Given the description of an element on the screen output the (x, y) to click on. 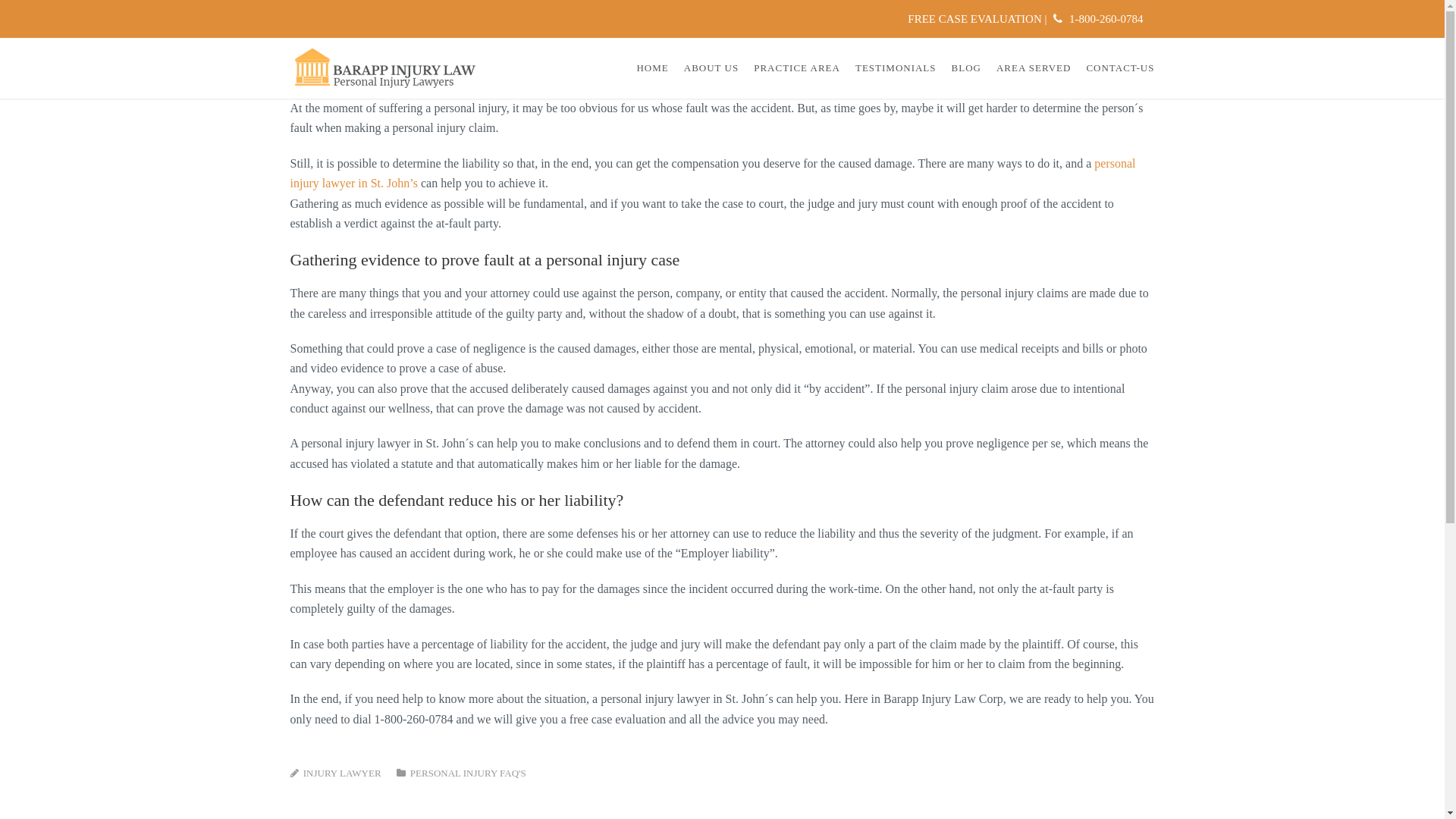
ABOUT US Element type: text (711, 67)
INJURY LAWYER Element type: text (342, 772)
PERSONAL INJURY FAQ'S Element type: text (468, 772)
AREA SERVED Element type: text (1033, 67)
HOME Element type: text (652, 67)
TESTIMONIALS Element type: text (895, 67)
PRACTICE AREA Element type: text (796, 67)
BLOG Element type: text (966, 67)
CONTACT-US Element type: text (1119, 67)
